Given the description of an element on the screen output the (x, y) to click on. 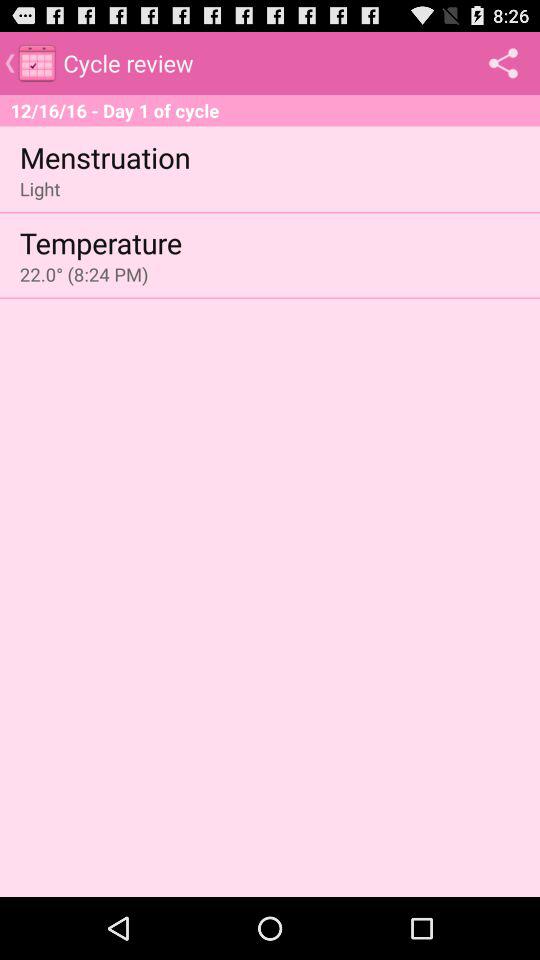
choose app above the temperature (39, 188)
